Given the description of an element on the screen output the (x, y) to click on. 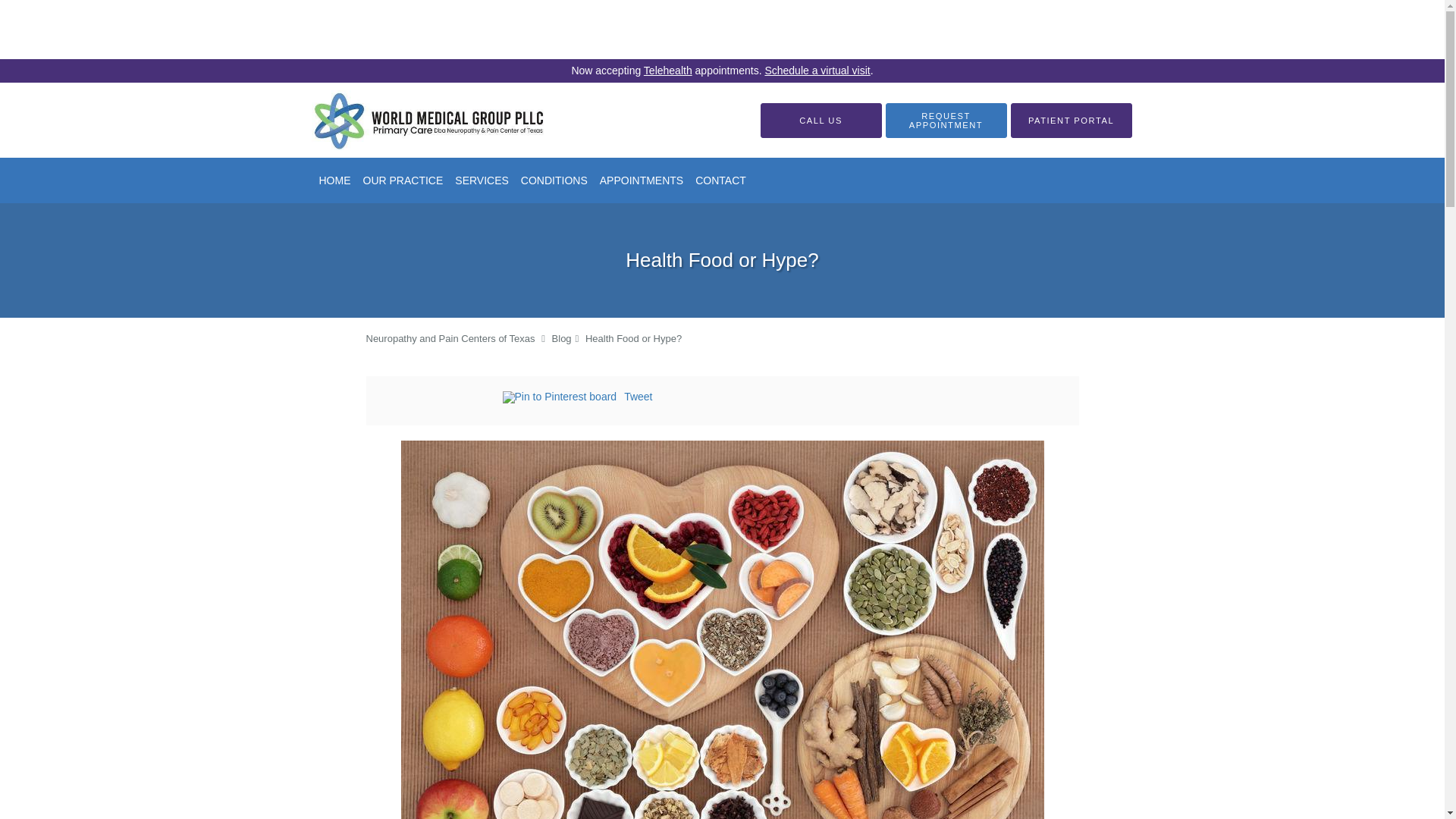
CONDITIONS (554, 180)
APPOINTMENTS (641, 180)
REQUEST APPOINTMENT (946, 120)
Facebook social button (441, 399)
PATIENT PORTAL (1070, 120)
HOME (334, 180)
SERVICES (481, 180)
CALL US (820, 120)
OUR PRACTICE (402, 180)
Schedule a virtual visit (816, 70)
